Given the description of an element on the screen output the (x, y) to click on. 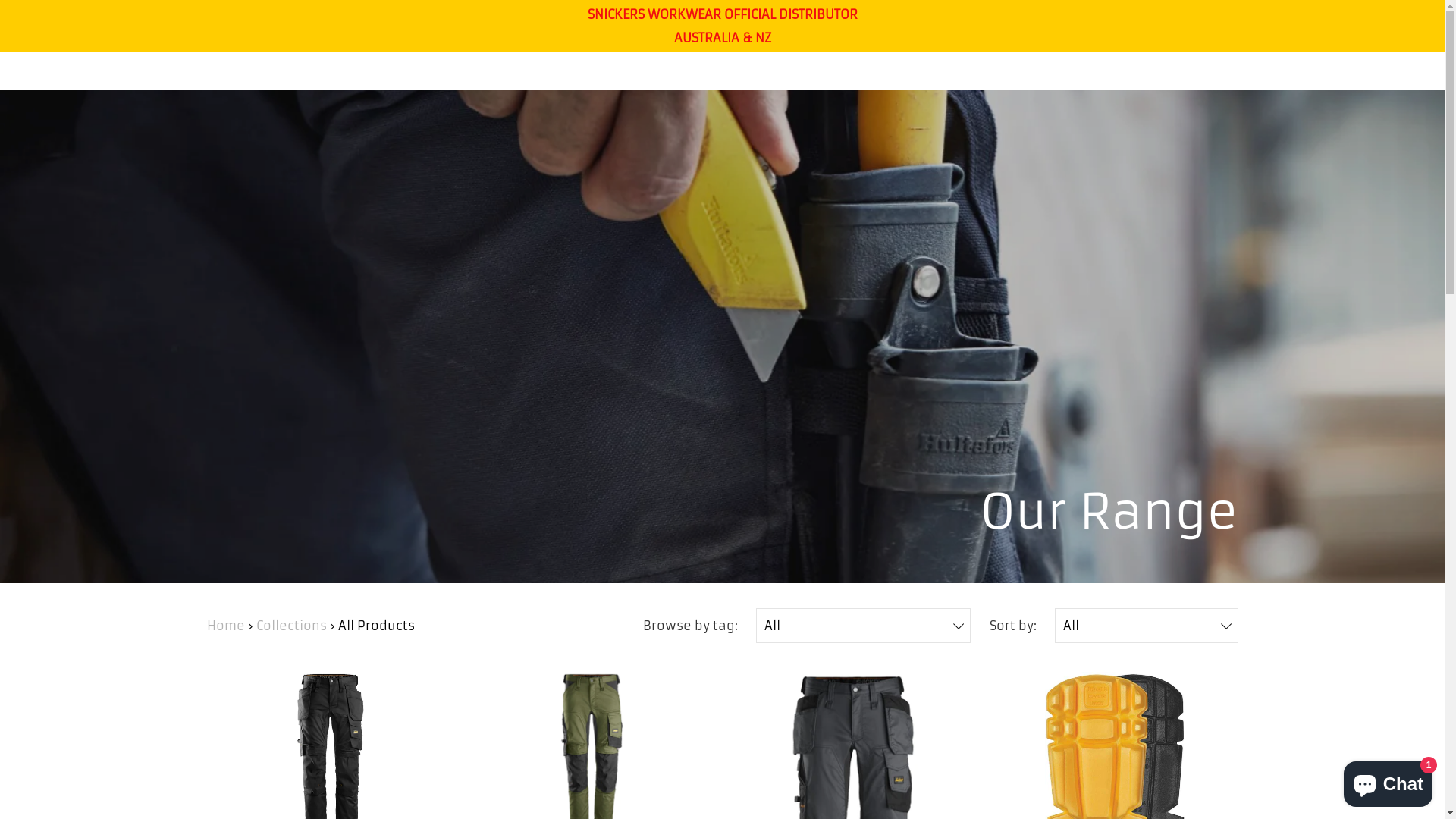
Shopify online store chat Element type: hover (1388, 780)
Home Element type: text (225, 625)
Collections Element type: text (291, 625)
SNICKERS WORKWEAR OFFICIAL DISTRIBUTOR
AUSTRALIA & NZ Element type: text (721, 26)
